Given the description of an element on the screen output the (x, y) to click on. 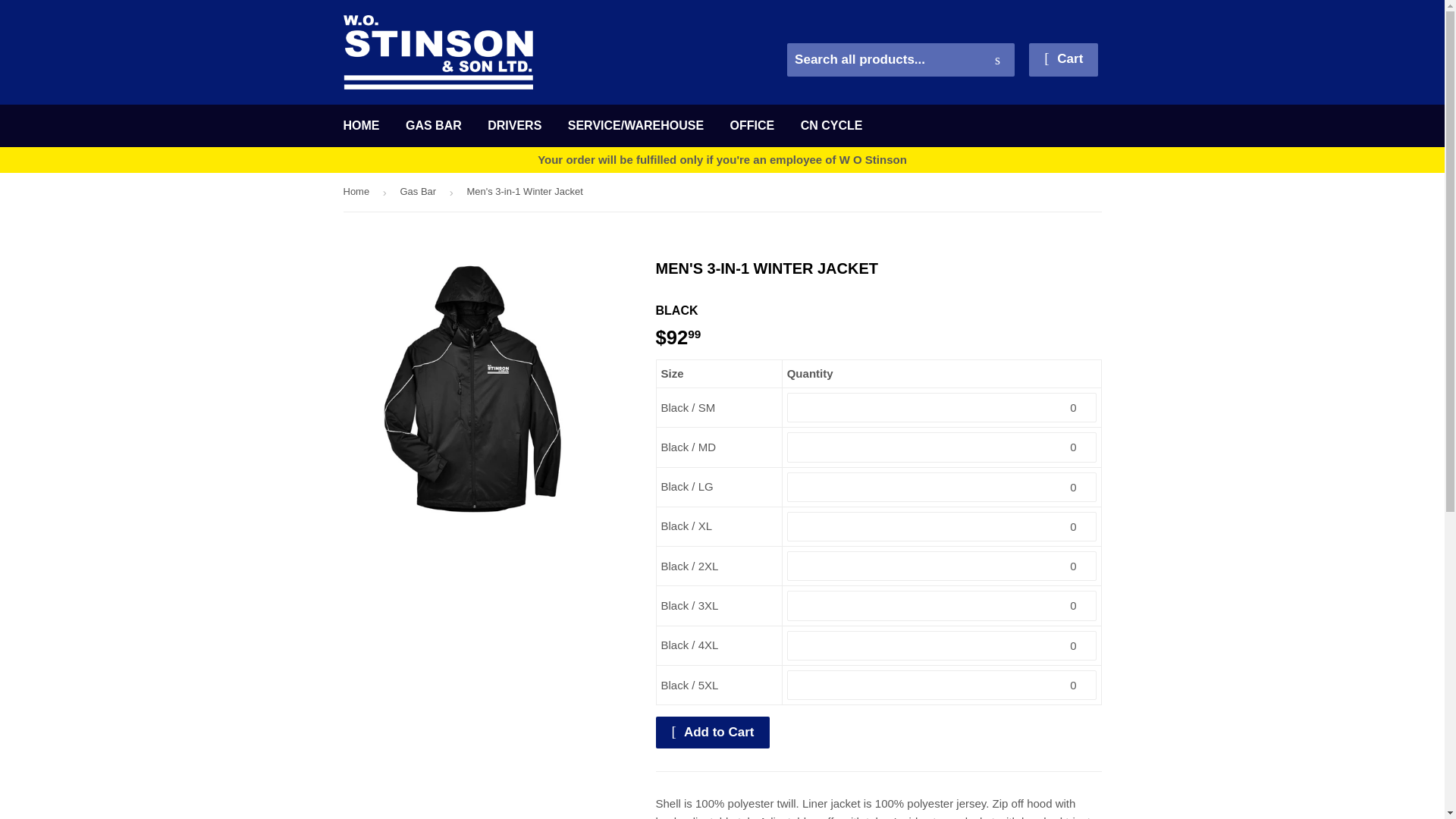
0 (941, 604)
0 (941, 407)
0 (941, 446)
0 (941, 526)
CN CYCLE (832, 125)
GAS BAR (433, 125)
Cart (1063, 59)
DRIVERS (514, 125)
0 (941, 565)
Add to Cart (712, 732)
0 (941, 486)
OFFICE (752, 125)
Search (996, 60)
Gas Bar (419, 191)
HOME (361, 125)
